Given the description of an element on the screen output the (x, y) to click on. 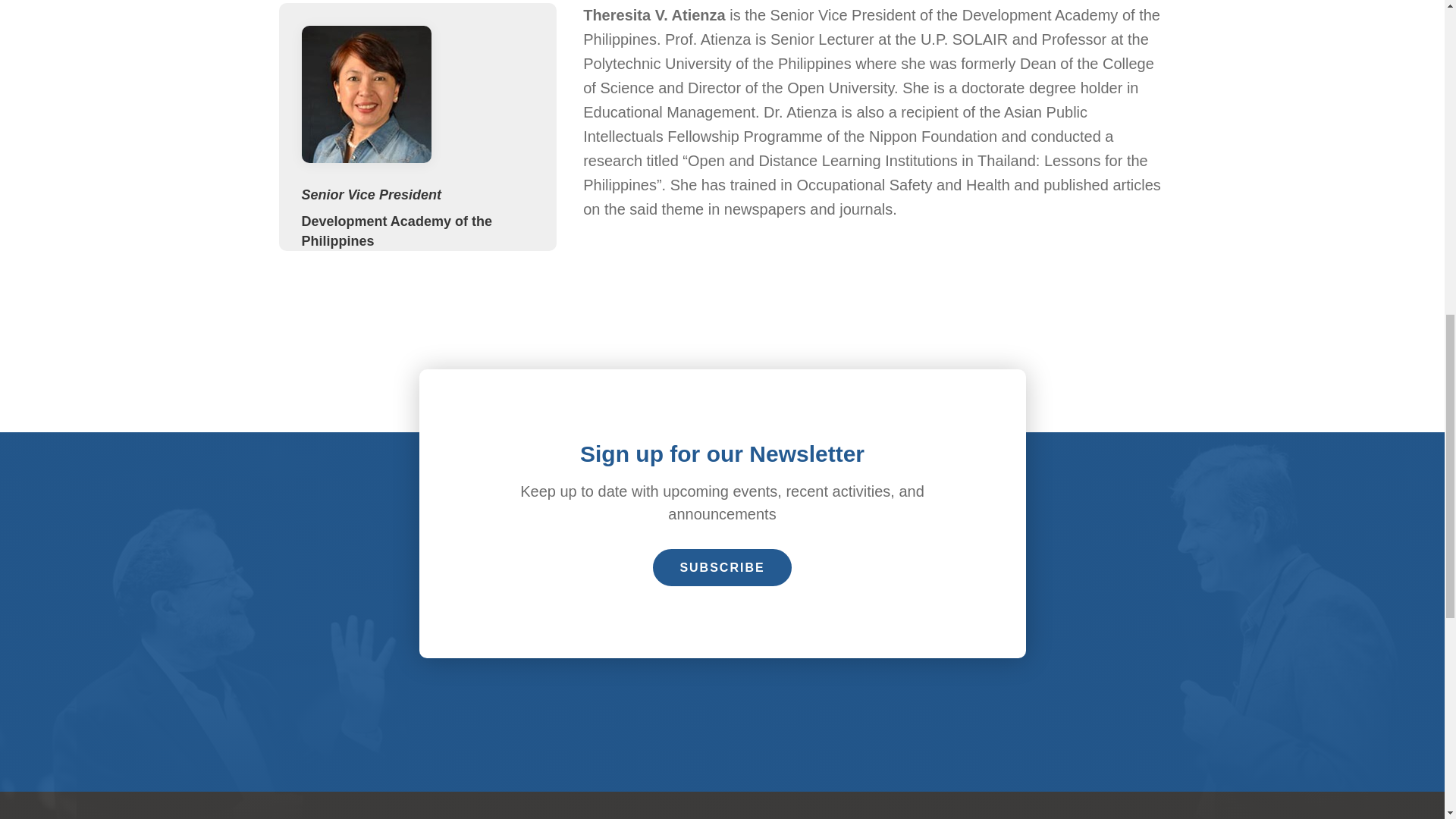
Theresita V. Atienza (365, 93)
